Given the description of an element on the screen output the (x, y) to click on. 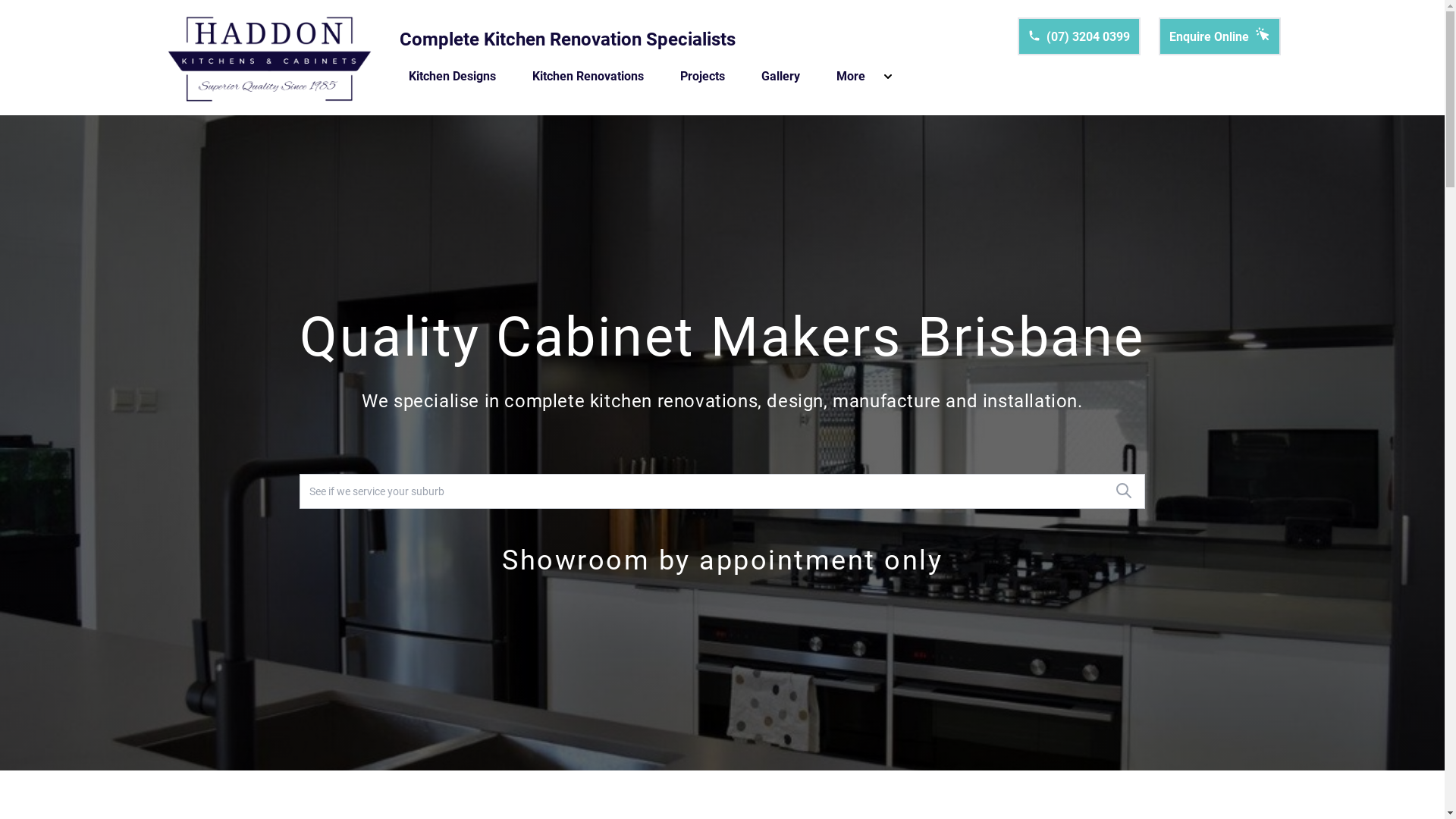
(07) 3204 0399 Element type: text (1078, 36)
Projects Element type: text (702, 76)
Kitchen Renovations Element type: text (587, 76)
Haddon Kitchen & Cabinets Element type: hover (268, 57)
Search Services near you Element type: hover (1123, 490)
Kitchen Designs Element type: text (452, 76)
Gallery Element type: text (780, 76)
Enquire Online Element type: text (1219, 36)
